Given the description of an element on the screen output the (x, y) to click on. 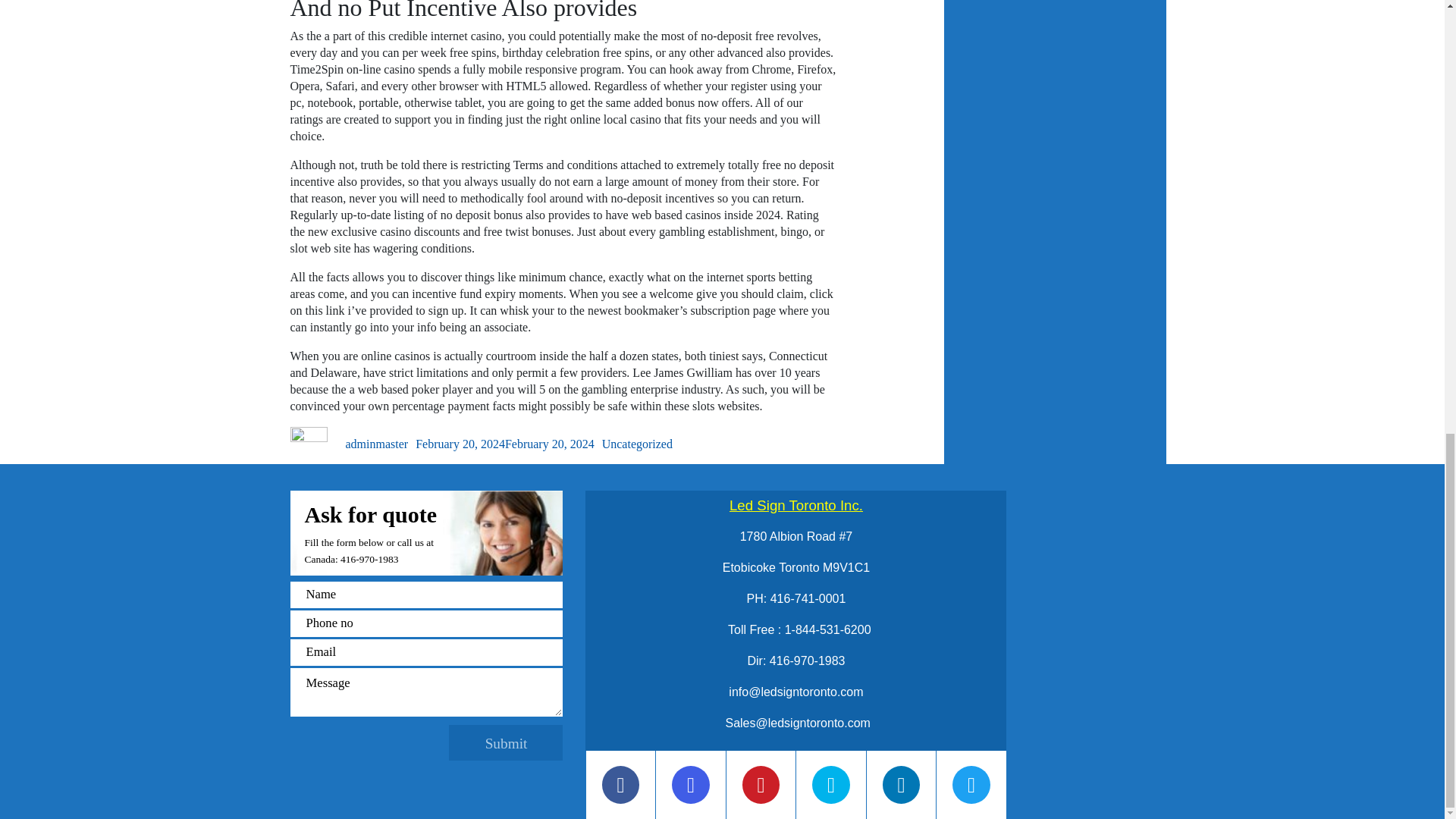
LinkedIn (901, 784)
Facebook (620, 785)
Uncategorized (637, 443)
Vimeo (831, 784)
adminmaster (377, 443)
February 20, 2024February 20, 2024 (504, 443)
Vimeo (830, 785)
Facebook (621, 784)
Instagram (690, 785)
Twitter (971, 785)
LinkedIn (901, 785)
Submit (505, 742)
Twitter (971, 784)
Pinterest (761, 785)
Submit (505, 742)
